Given the description of an element on the screen output the (x, y) to click on. 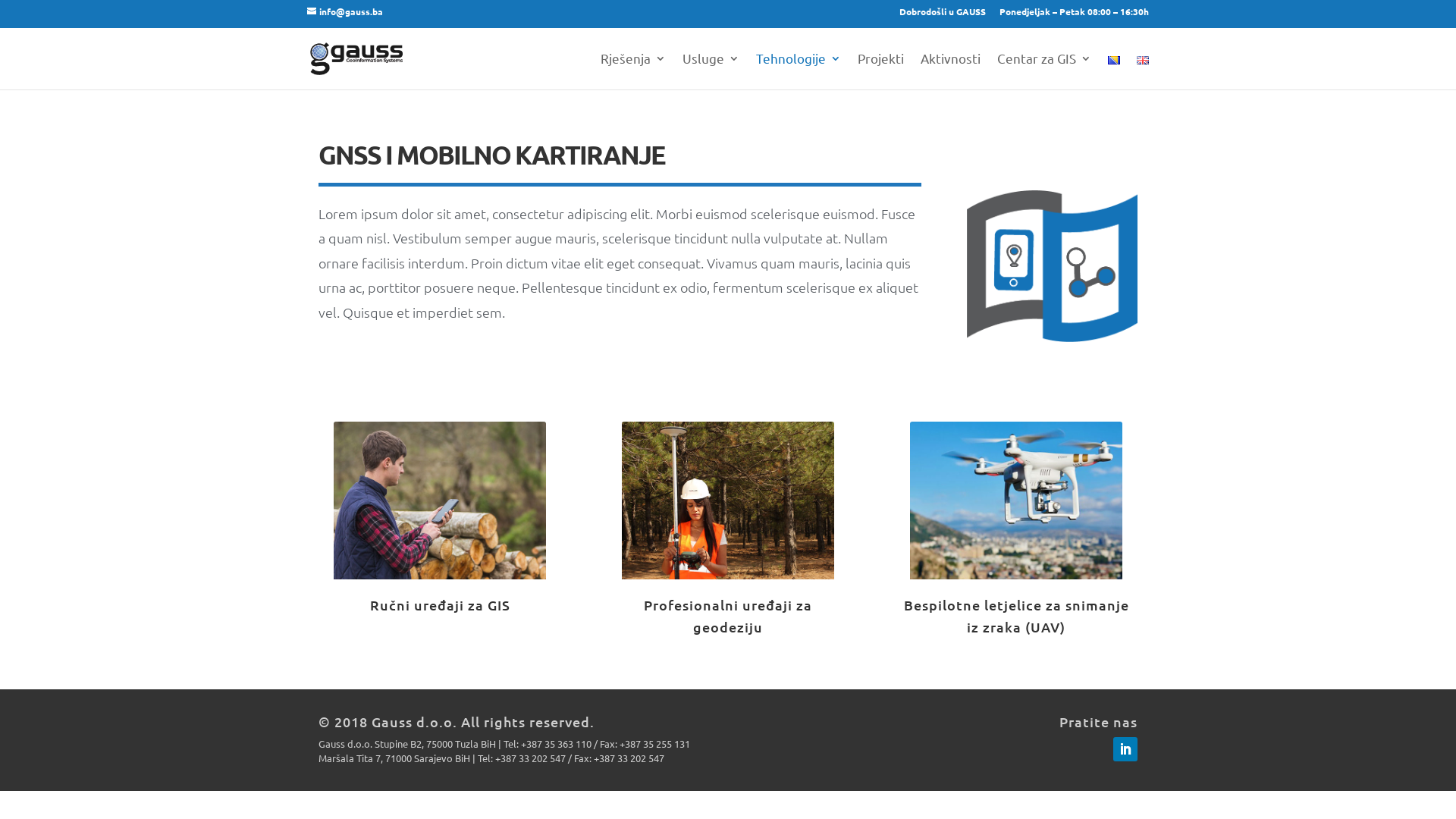
info@gauss.ba Element type: text (344, 11)
Aktivnosti Element type: text (950, 70)
Follow on LinkedIn Element type: hover (1125, 749)
gnss-mobile-maping Element type: hover (1051, 266)
English Element type: hover (1142, 60)
Tehnologije Element type: text (798, 70)
Usluge Element type: text (710, 70)
Centar za GIS Element type: text (1044, 70)
Bespilotne letjelice za snimanje iz zraka (UAV) Element type: text (1016, 615)
Projekti Element type: text (880, 70)
Bosanski Element type: hover (1113, 60)
